Given the description of an element on the screen output the (x, y) to click on. 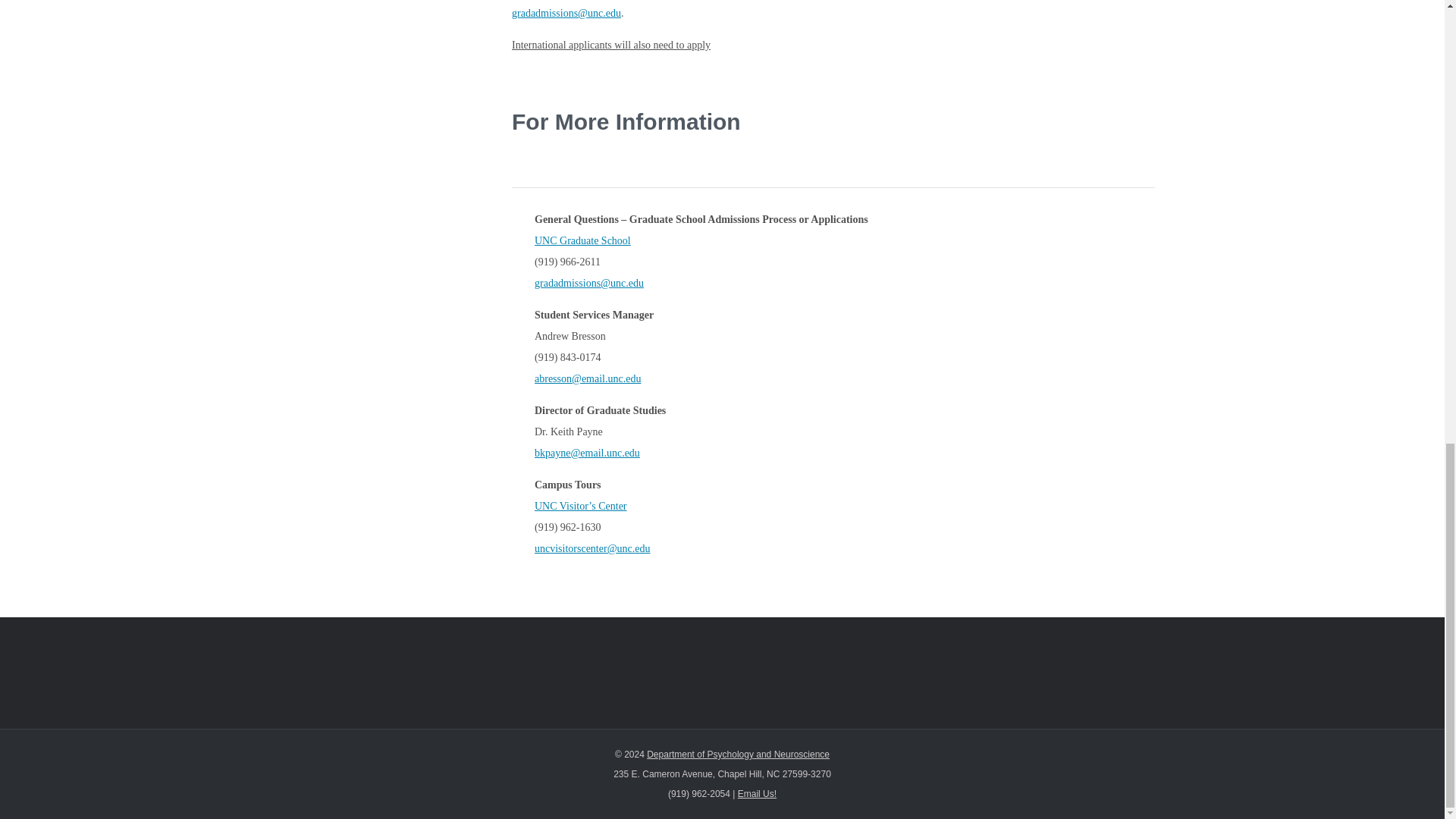
UNC Graduate School (582, 240)
